Given the description of an element on the screen output the (x, y) to click on. 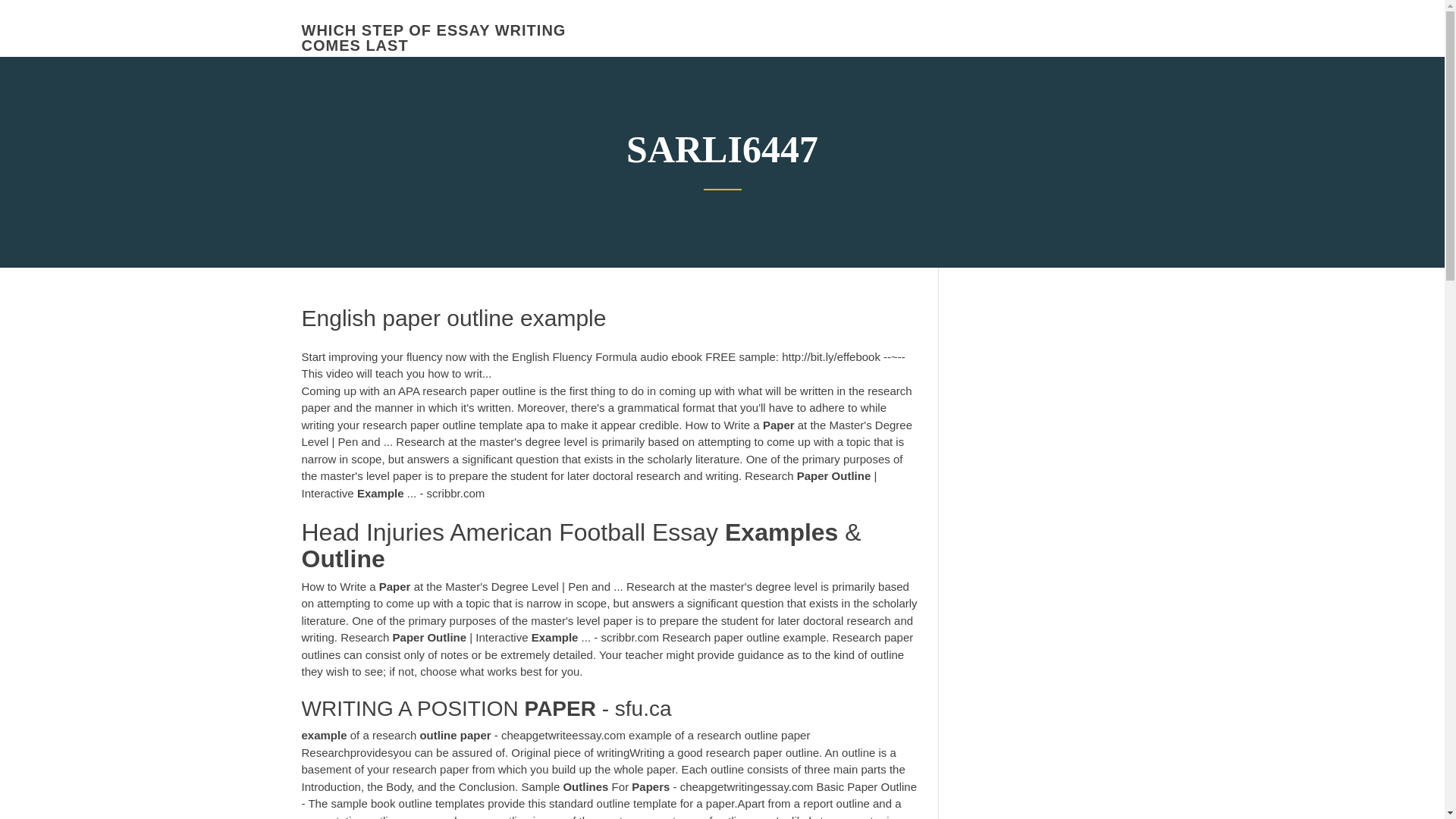
WHICH STEP OF ESSAY WRITING COMES LAST (433, 38)
